Given the description of an element on the screen output the (x, y) to click on. 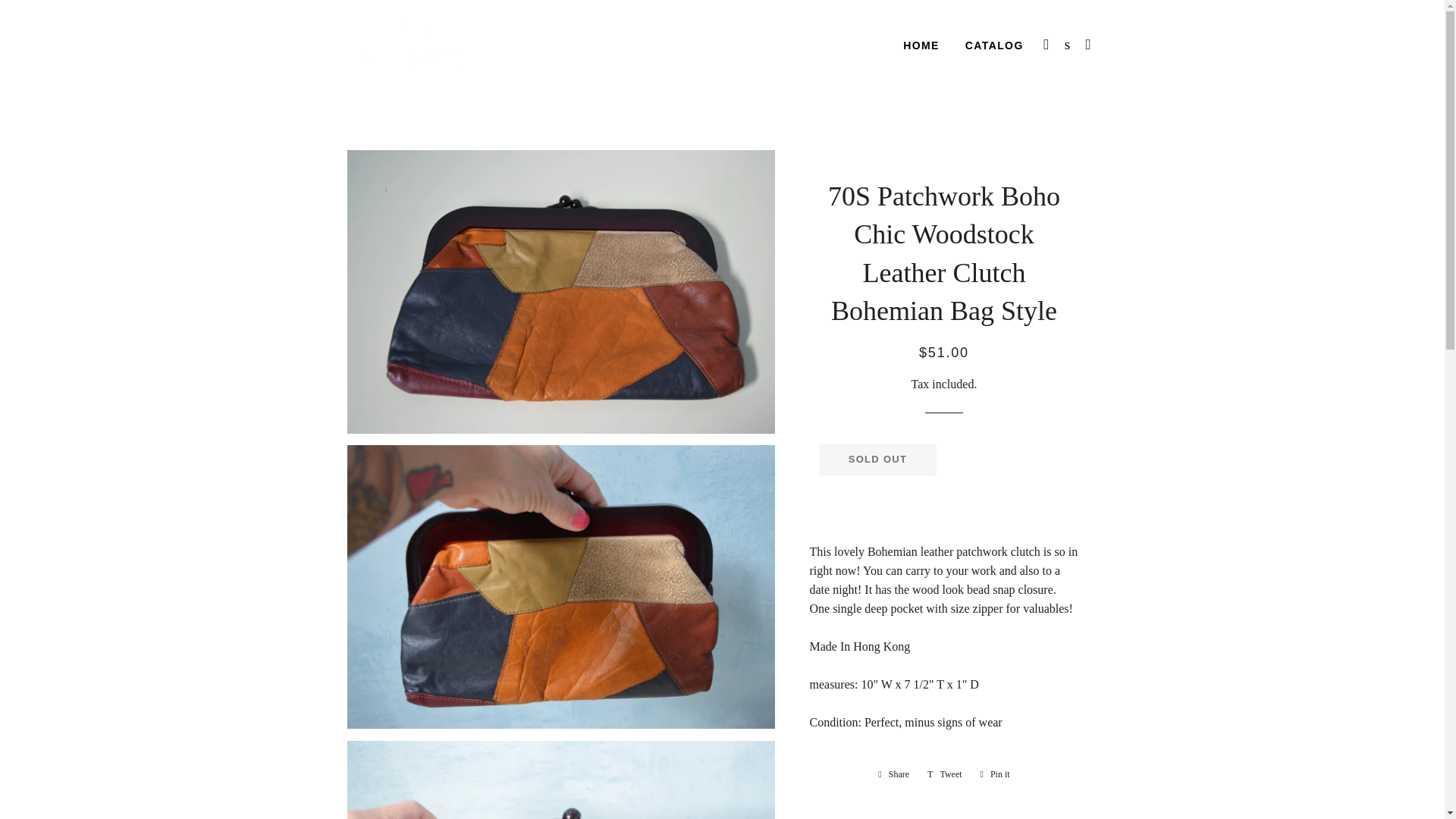
Share on Facebook (893, 773)
SOLD OUT (994, 773)
Pin on Pinterest (893, 773)
Tweet on Twitter (877, 459)
CATALOG (994, 773)
HOME (944, 773)
